Given the description of an element on the screen output the (x, y) to click on. 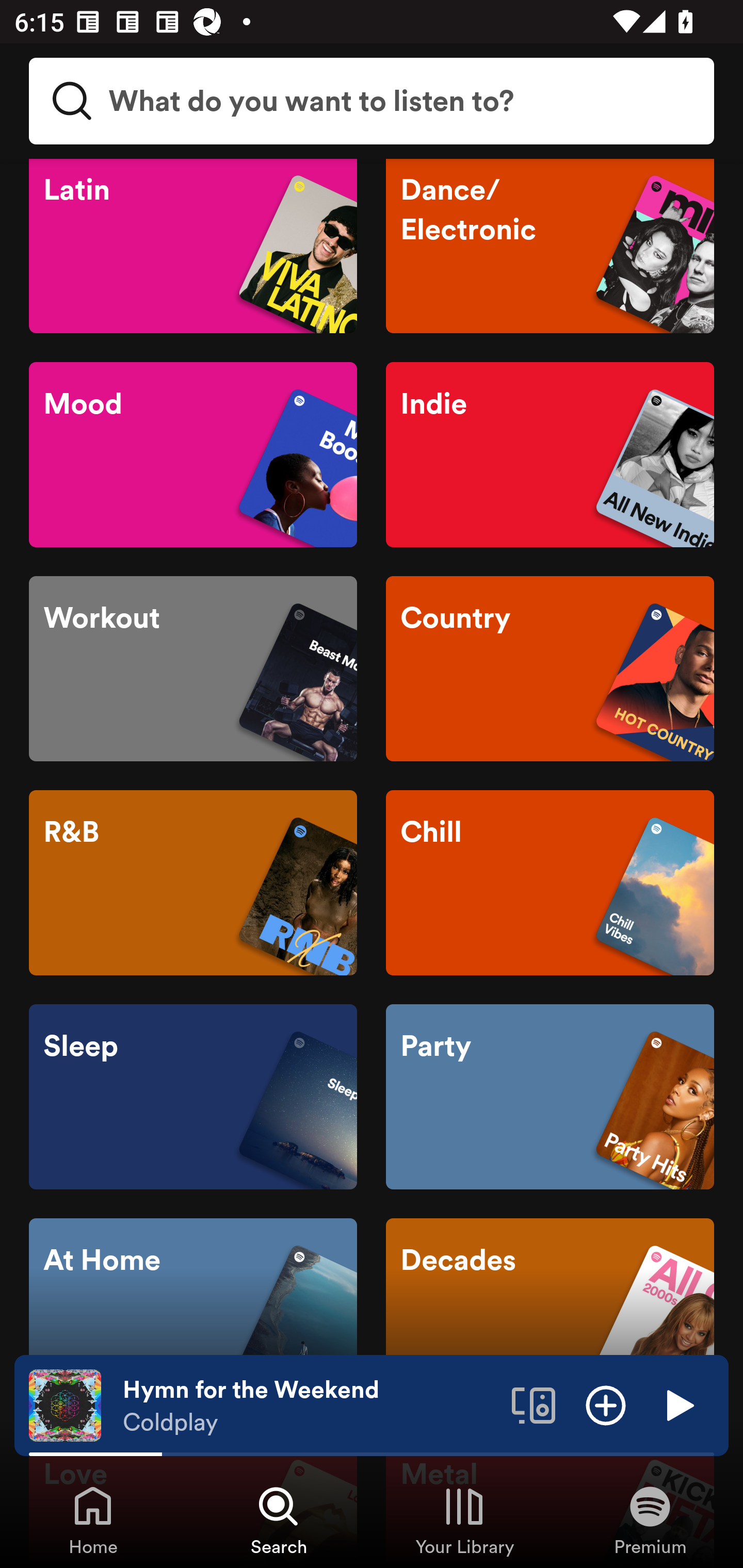
Latin (192, 245)
Dance/Electronic (549, 245)
Mood (192, 454)
Indie (549, 454)
Workout (192, 668)
Country (549, 668)
R&B (192, 882)
Chill (549, 882)
Sleep (192, 1096)
Party (549, 1096)
At Home (192, 1310)
Decades (549, 1310)
Hymn for the Weekend Coldplay (309, 1405)
The cover art of the currently playing track (64, 1404)
Connect to a device. Opens the devices menu (533, 1404)
Add item (605, 1404)
Play (677, 1404)
Home, Tab 1 of 4 Home Home (92, 1519)
Search, Tab 2 of 4 Search Search (278, 1519)
Your Library, Tab 3 of 4 Your Library Your Library (464, 1519)
Premium, Tab 4 of 4 Premium Premium (650, 1519)
